Given the description of an element on the screen output the (x, y) to click on. 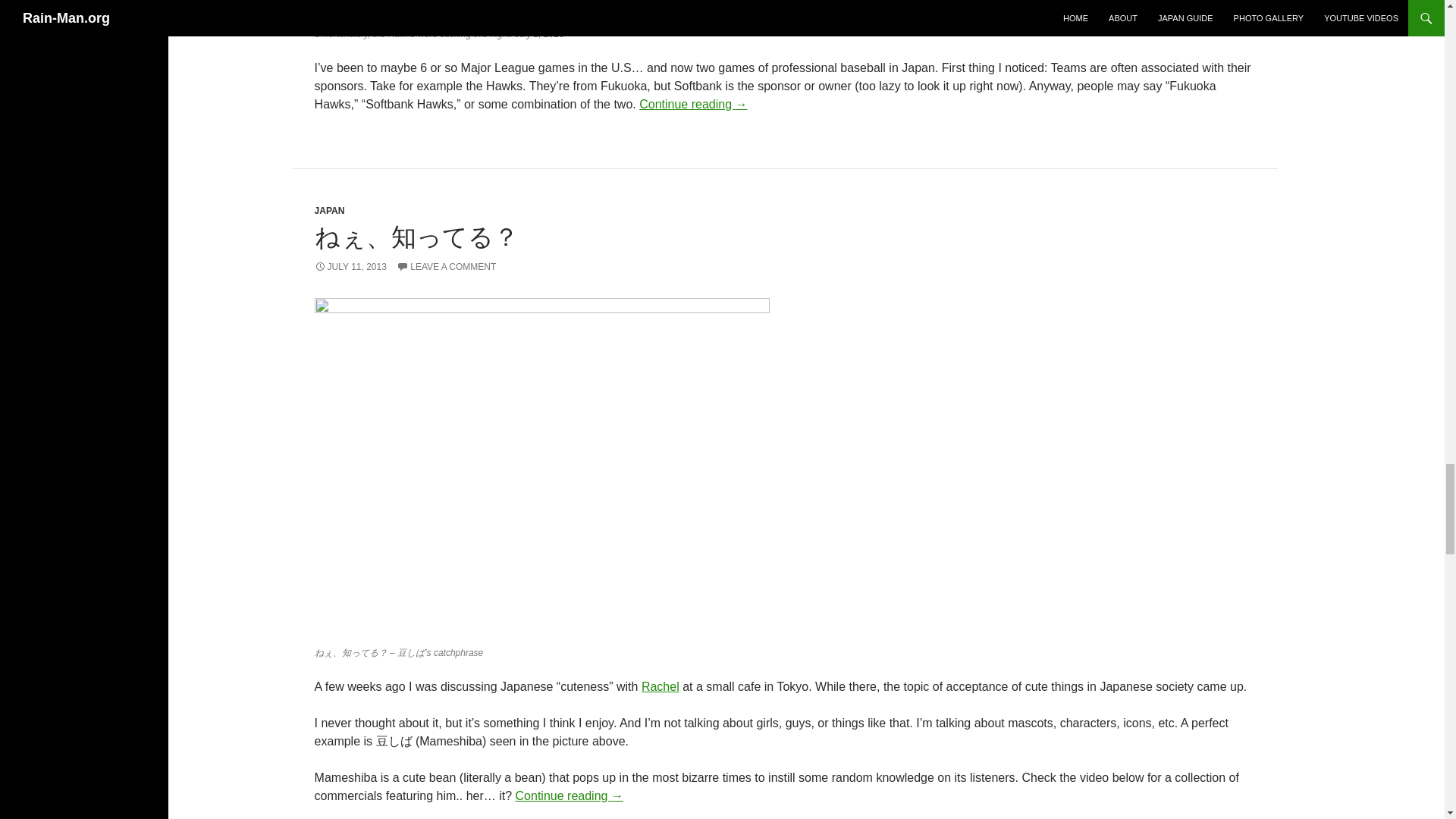
Rachel (660, 686)
JAPAN (329, 210)
JULY 11, 2013 (350, 266)
LEAVE A COMMENT (446, 266)
